Given the description of an element on the screen output the (x, y) to click on. 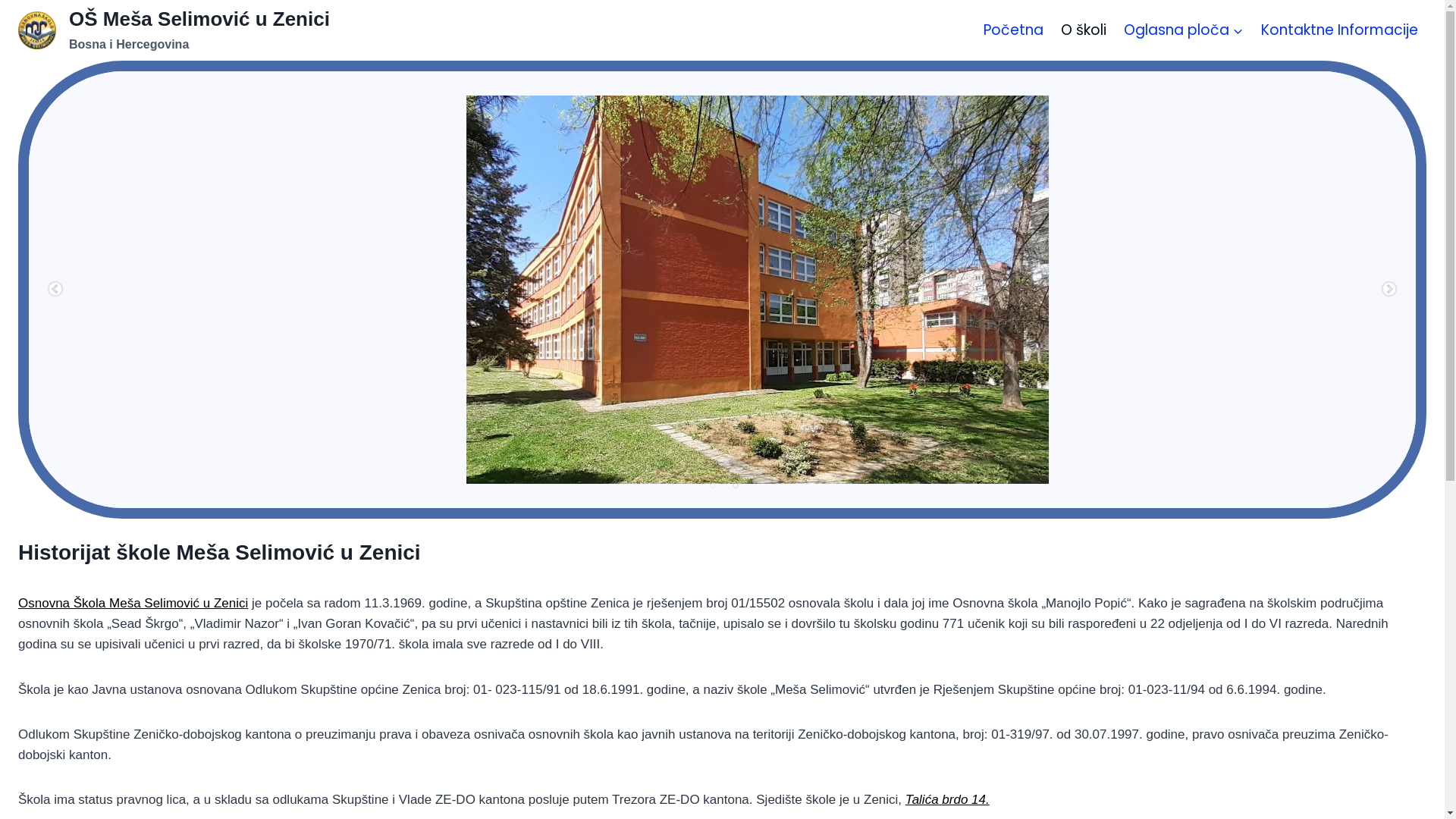
Previous Element type: text (54, 289)
Kontaktne Informacije Element type: text (1339, 29)
Next Element type: text (1388, 289)
3 Element type: text (757, 484)
1 Element type: text (712, 484)
2 Element type: text (735, 484)
